Given the description of an element on the screen output the (x, y) to click on. 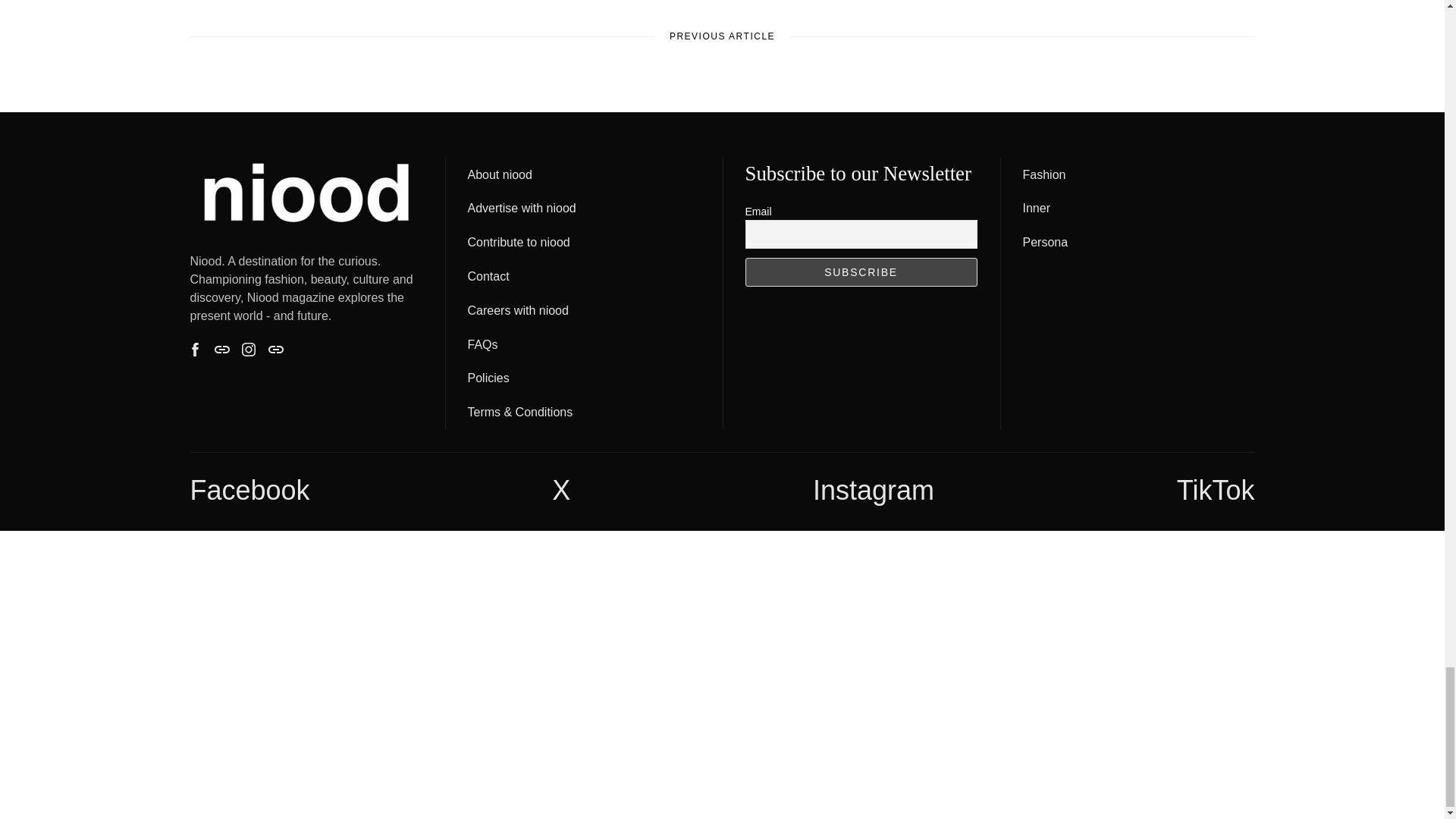
Subscribe (860, 271)
